Given the description of an element on the screen output the (x, y) to click on. 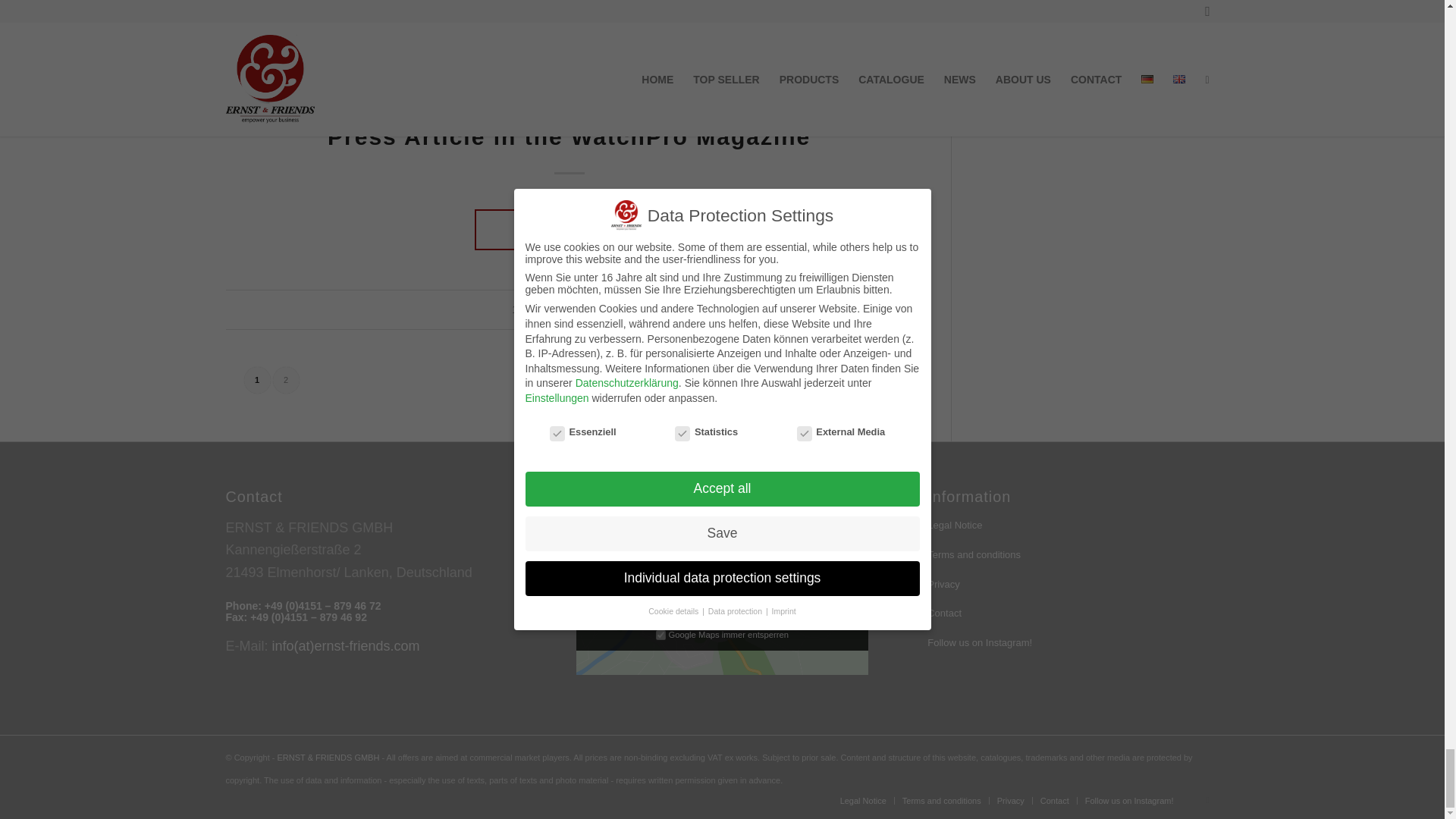
1 (660, 634)
Permanent Link: Press Article in the WatchPro Magazine (568, 136)
